Given the description of an element on the screen output the (x, y) to click on. 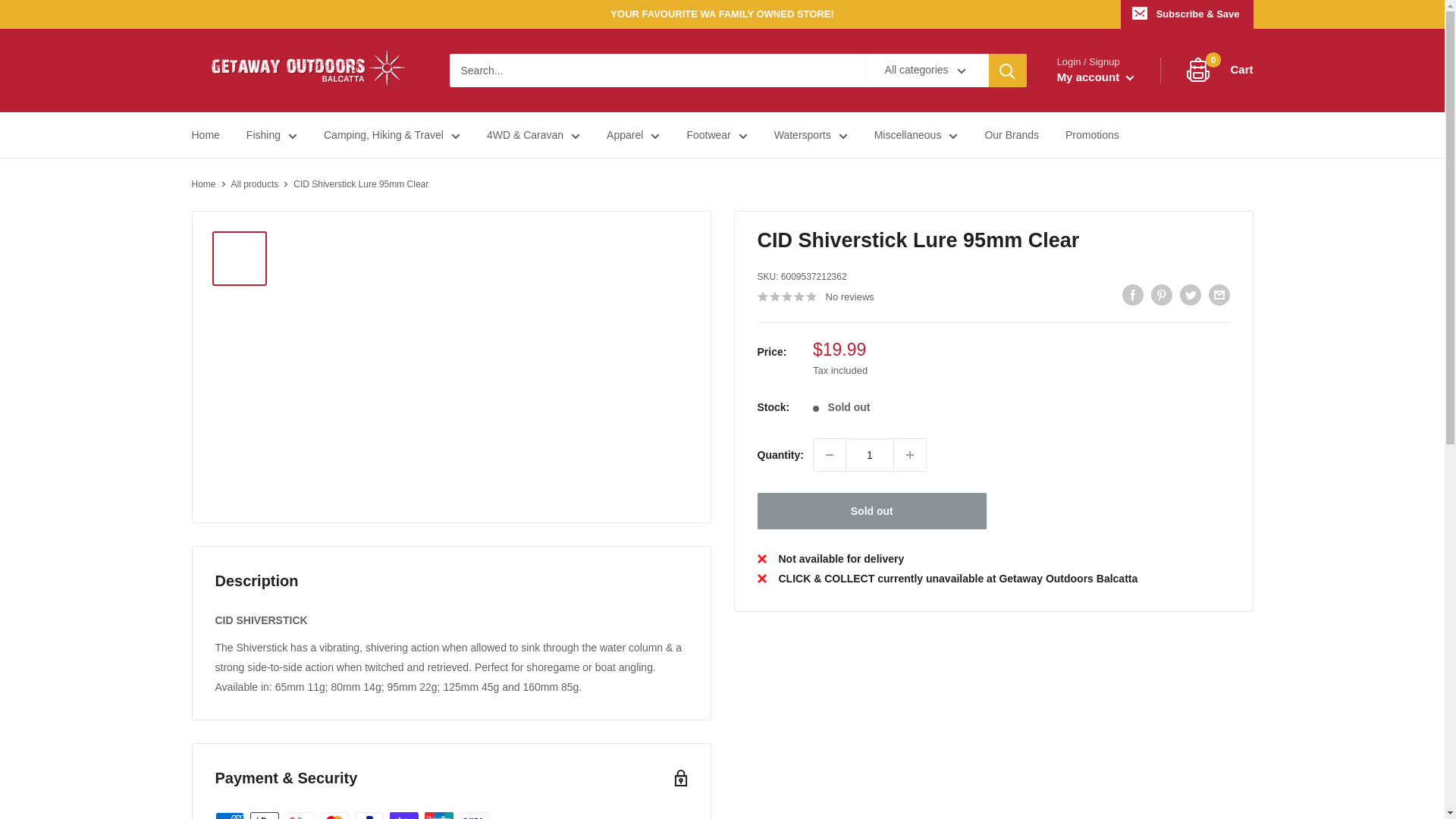
Decrease quantity by 1 (829, 454)
1 (869, 454)
Increase quantity by 1 (909, 454)
